Given the description of an element on the screen output the (x, y) to click on. 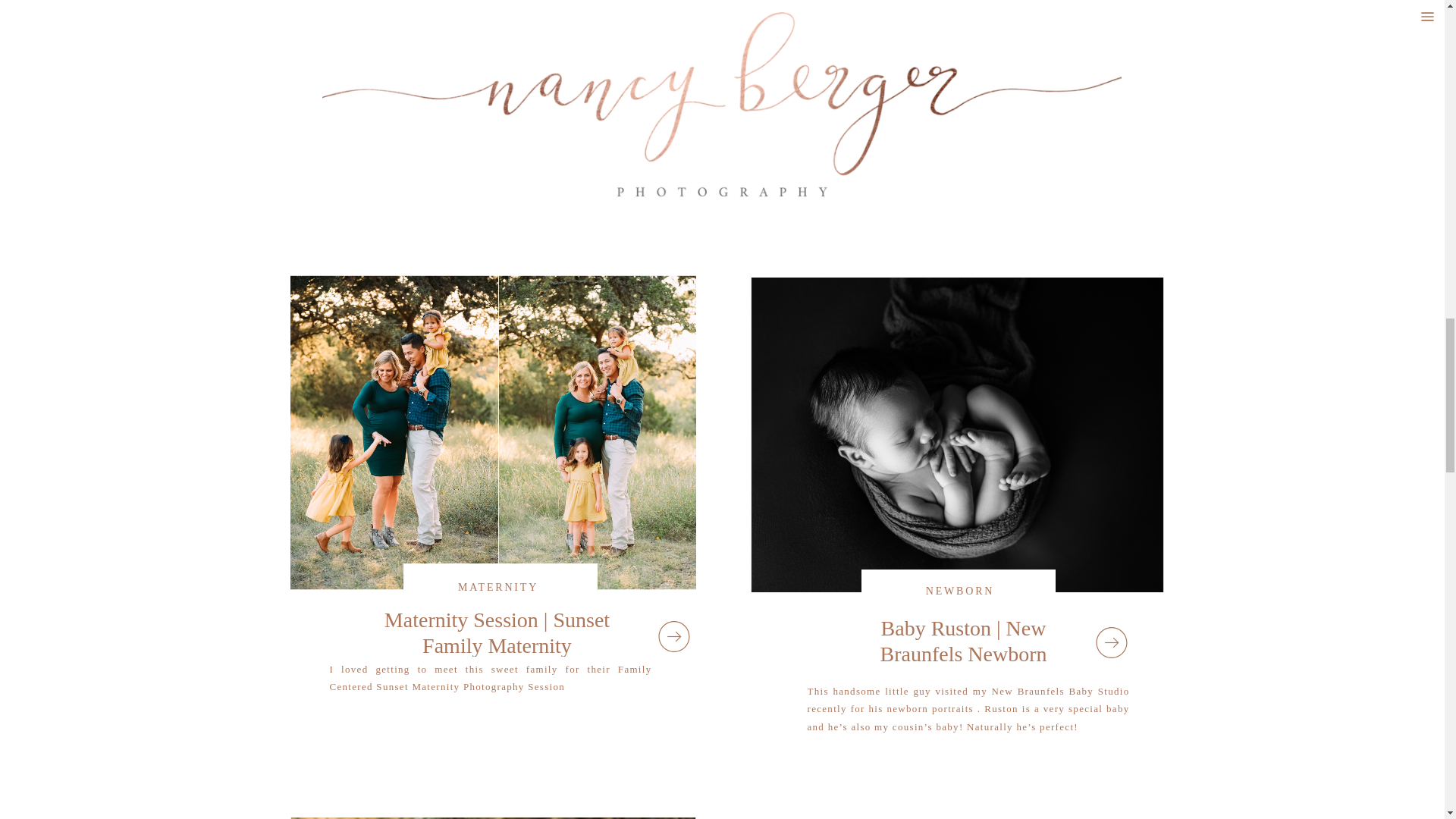
MATERNITY (960, 48)
San Antonio Maternity Photography Studio (963, 98)
San Antonio Maternity Photography Studio (1110, 100)
San Antonio Maternity Photography Studio (957, 24)
MATERNITY (498, 586)
NEWBORN (498, 44)
